Given the description of an element on the screen output the (x, y) to click on. 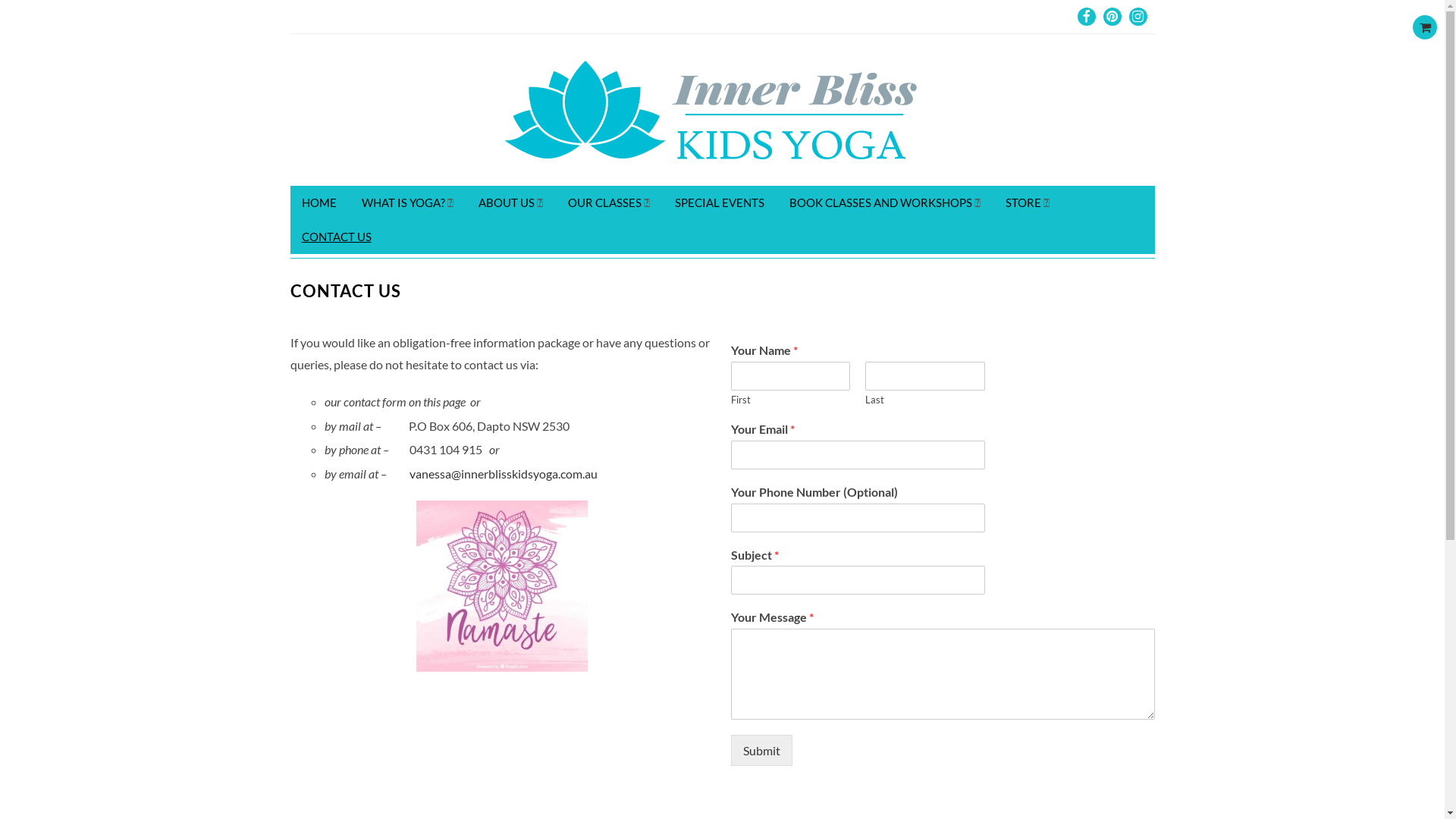
vanessa@innerblisskidsyoga.com.au Element type: text (503, 473)
SPECIAL EVENTS Element type: text (718, 202)
OUR CLASSES Element type: text (608, 202)
View your shopping cart Element type: hover (1424, 27)
HOME Element type: text (318, 202)
BOOK CLASSES AND WORKSHOPS Element type: text (884, 202)
Submit Element type: text (761, 749)
STORE Element type: text (1026, 202)
ABOUT US Element type: text (510, 202)
CONTACT US Element type: text (335, 236)
WHAT IS YOGA? Element type: text (407, 202)
Inner Bliss Element type: hover (721, 109)
